Given the description of an element on the screen output the (x, y) to click on. 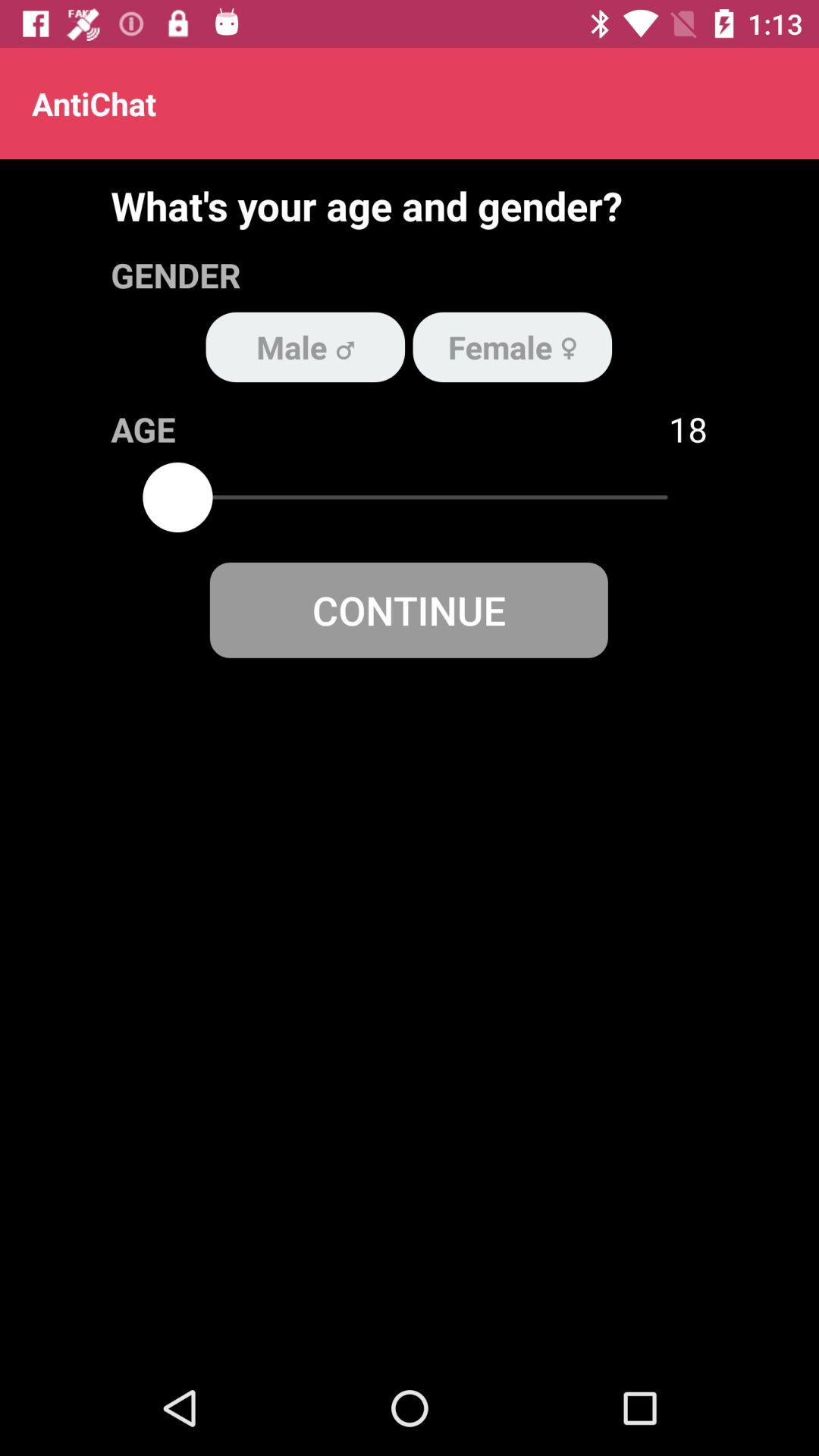
jump to continue (408, 610)
